Given the description of an element on the screen output the (x, y) to click on. 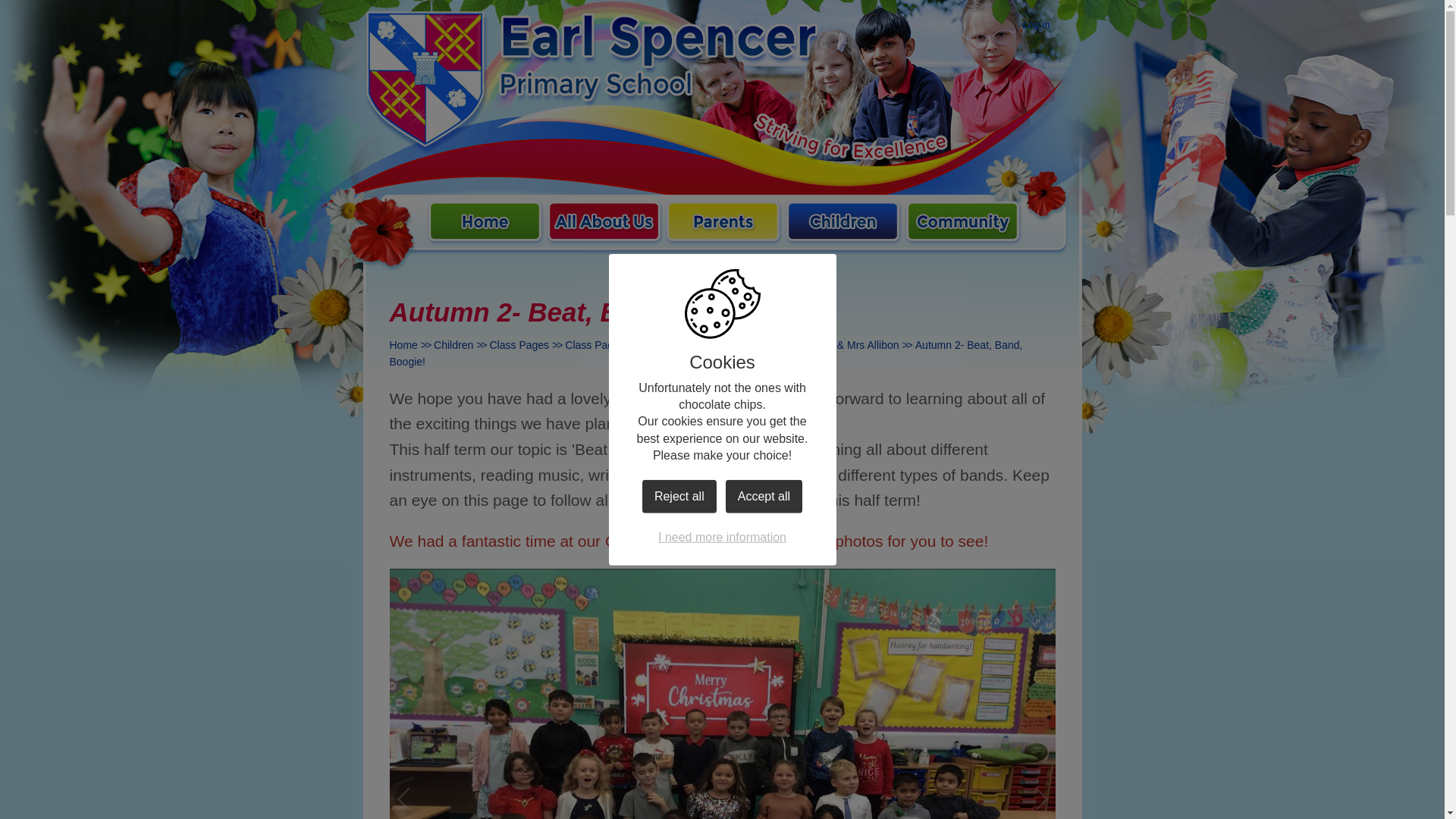
All About Us (603, 223)
Autumn 2- Beat, Band, Boogie! (706, 353)
Home (403, 345)
Class Pages 2021-2022 (621, 345)
Class Pages (519, 345)
Home (484, 223)
Children (453, 345)
Log in (1036, 25)
